Given the description of an element on the screen output the (x, y) to click on. 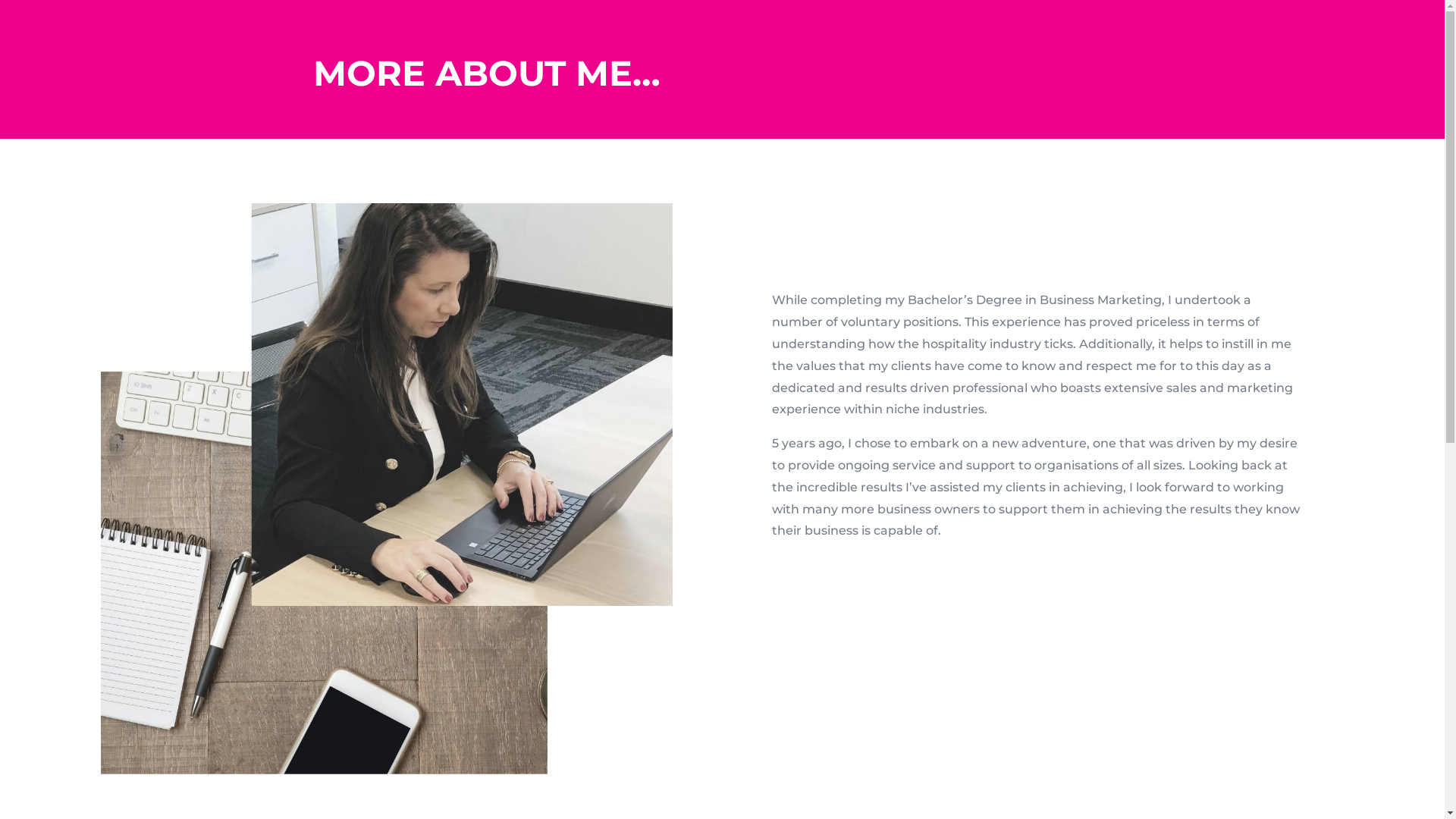
diana zivanovic inside sales support (2) Element type: hover (386, 489)
